Given the description of an element on the screen output the (x, y) to click on. 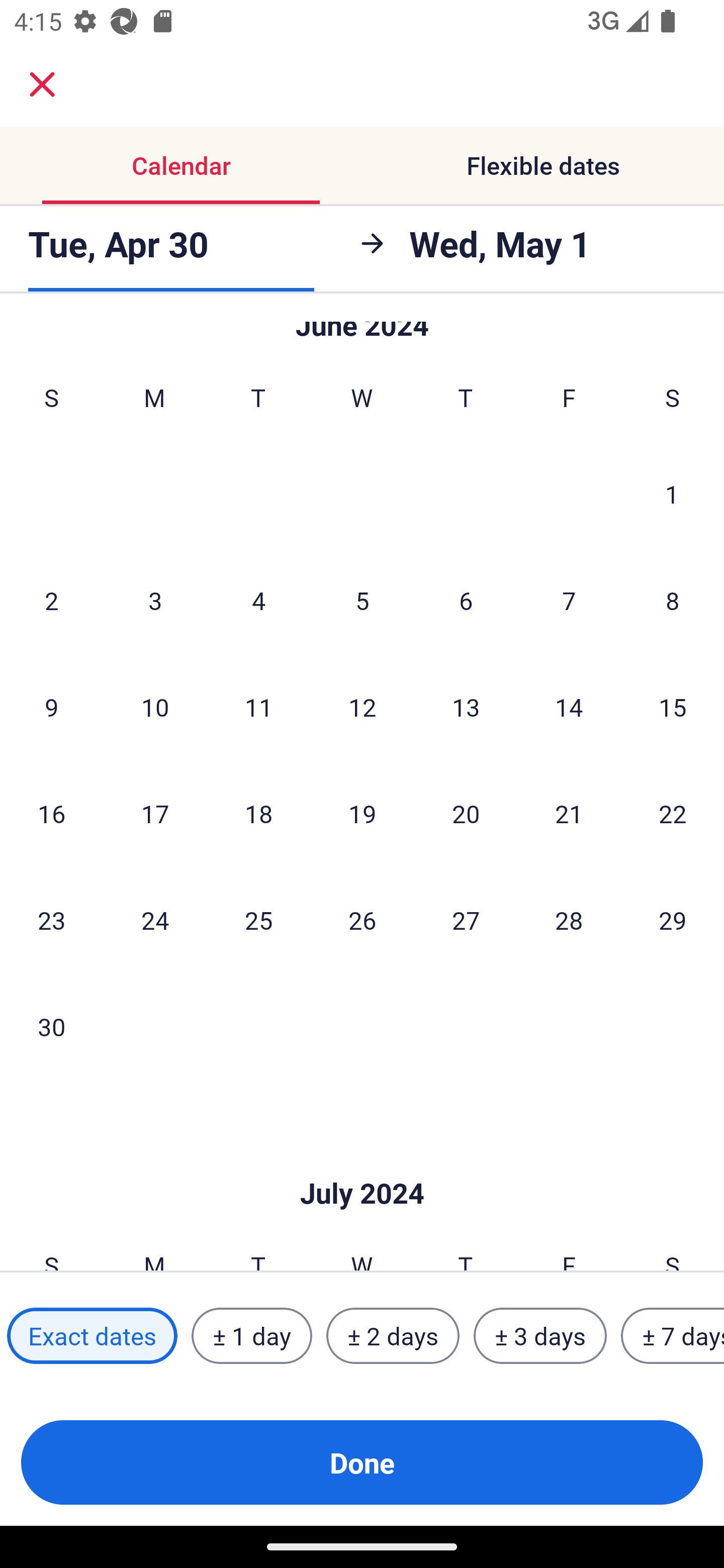
close. (42, 84)
Flexible dates (542, 164)
1 Saturday, June 1, 2024 (672, 493)
2 Sunday, June 2, 2024 (51, 600)
3 Monday, June 3, 2024 (155, 600)
4 Tuesday, June 4, 2024 (258, 600)
5 Wednesday, June 5, 2024 (362, 600)
6 Thursday, June 6, 2024 (465, 600)
7 Friday, June 7, 2024 (569, 600)
8 Saturday, June 8, 2024 (672, 600)
9 Sunday, June 9, 2024 (51, 706)
10 Monday, June 10, 2024 (155, 706)
11 Tuesday, June 11, 2024 (258, 706)
12 Wednesday, June 12, 2024 (362, 706)
13 Thursday, June 13, 2024 (465, 706)
14 Friday, June 14, 2024 (569, 706)
15 Saturday, June 15, 2024 (672, 706)
16 Sunday, June 16, 2024 (51, 813)
17 Monday, June 17, 2024 (155, 813)
18 Tuesday, June 18, 2024 (258, 813)
19 Wednesday, June 19, 2024 (362, 813)
20 Thursday, June 20, 2024 (465, 813)
21 Friday, June 21, 2024 (569, 813)
22 Saturday, June 22, 2024 (672, 813)
23 Sunday, June 23, 2024 (51, 920)
24 Monday, June 24, 2024 (155, 920)
25 Tuesday, June 25, 2024 (258, 920)
26 Wednesday, June 26, 2024 (362, 920)
27 Thursday, June 27, 2024 (465, 920)
28 Friday, June 28, 2024 (569, 920)
29 Saturday, June 29, 2024 (672, 920)
30 Sunday, June 30, 2024 (51, 1026)
Skip to Done (362, 1163)
Exact dates (92, 1335)
± 1 day (251, 1335)
± 2 days (392, 1335)
± 3 days (539, 1335)
± 7 days (672, 1335)
Done (361, 1462)
